Given the description of an element on the screen output the (x, y) to click on. 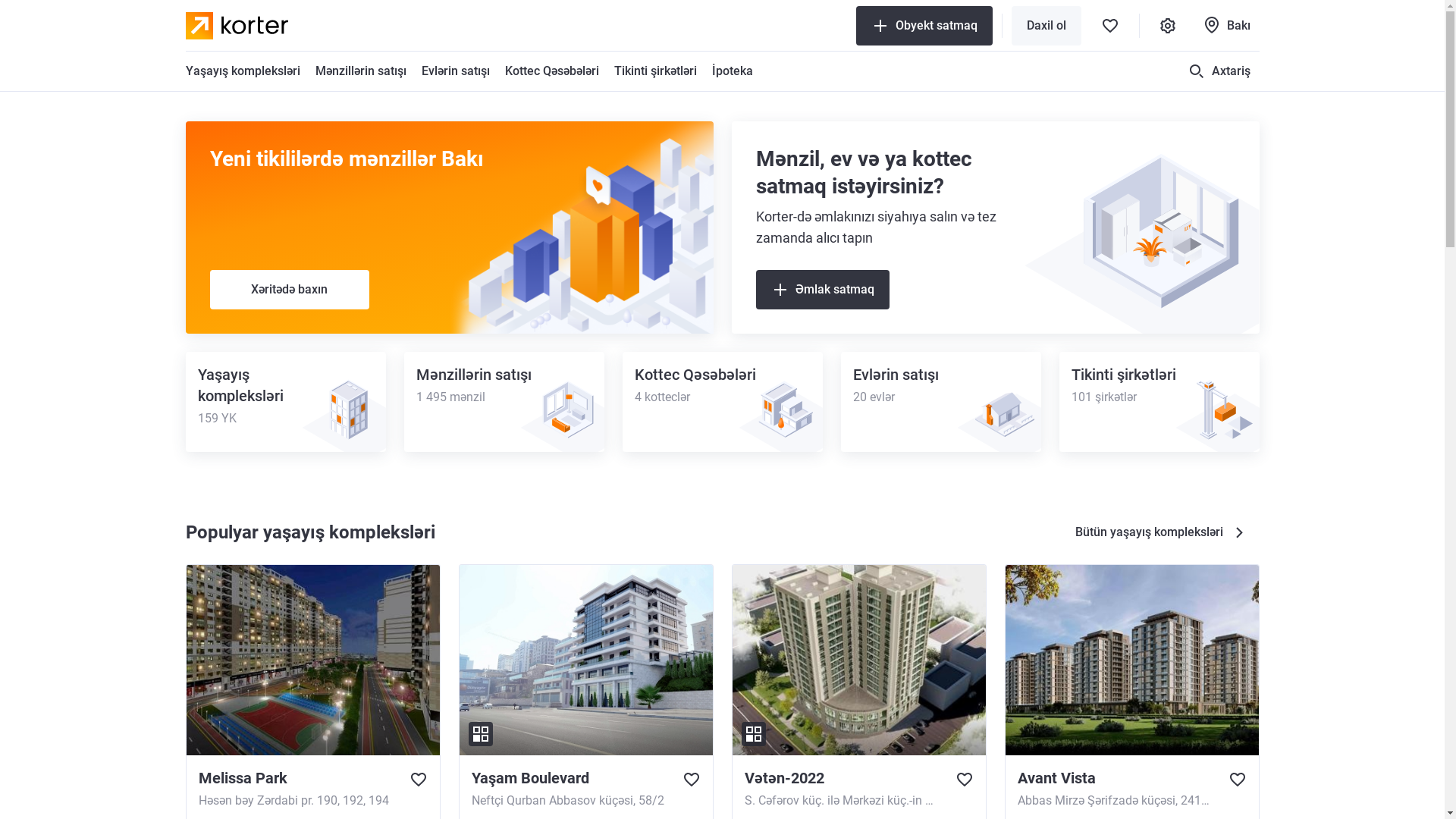
Daxil ol Element type: text (1046, 25)
Obyekt satmaq Element type: text (923, 25)
